Given the description of an element on the screen output the (x, y) to click on. 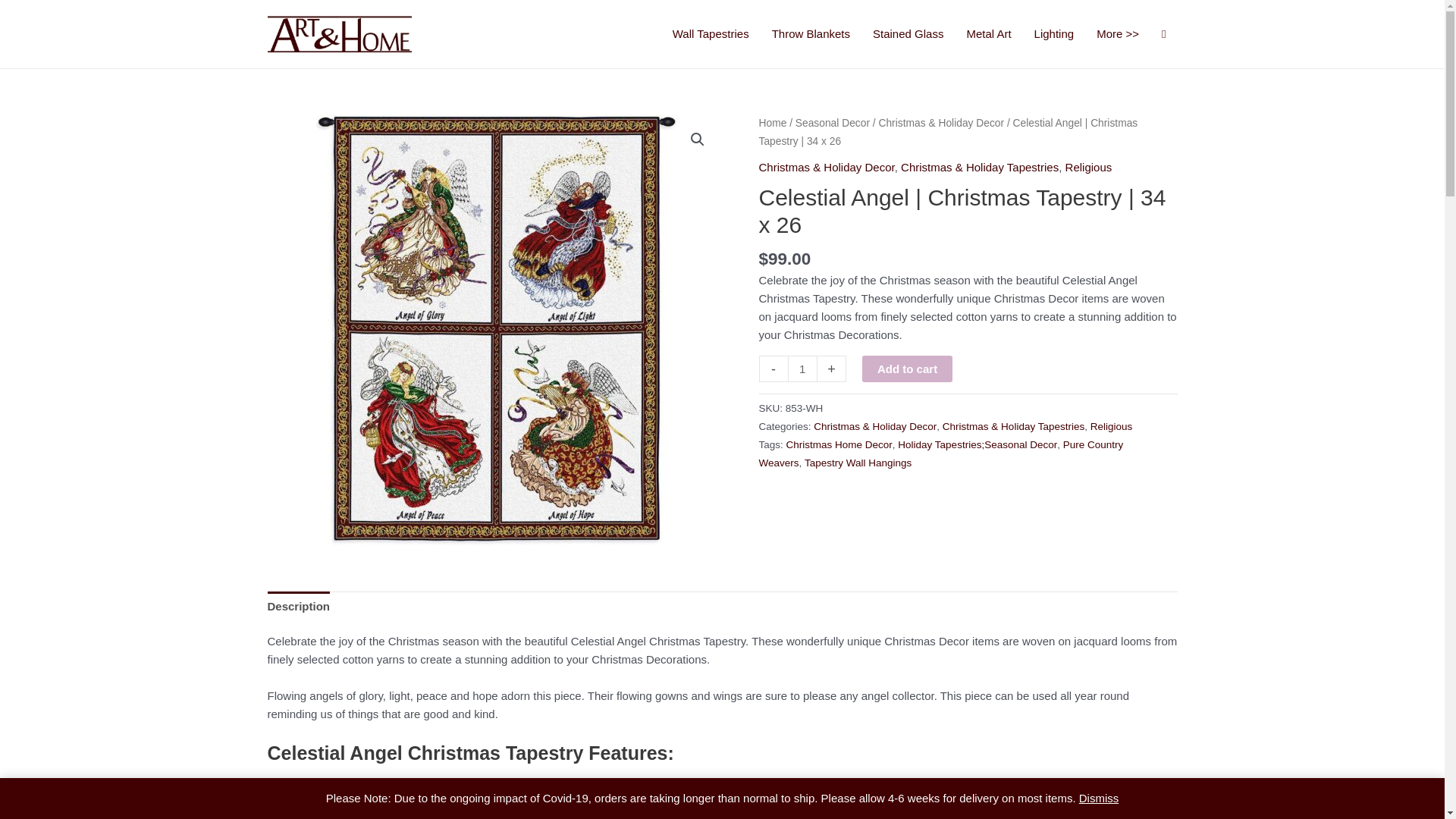
Stained Glass (908, 34)
Religious (1088, 166)
Seasonal Decor (831, 122)
Throw Blankets (810, 34)
Lighting (1054, 34)
Home (772, 122)
Wall Tapestries (710, 34)
- (772, 368)
Add to cart (906, 368)
1 (801, 368)
